Given the description of an element on the screen output the (x, y) to click on. 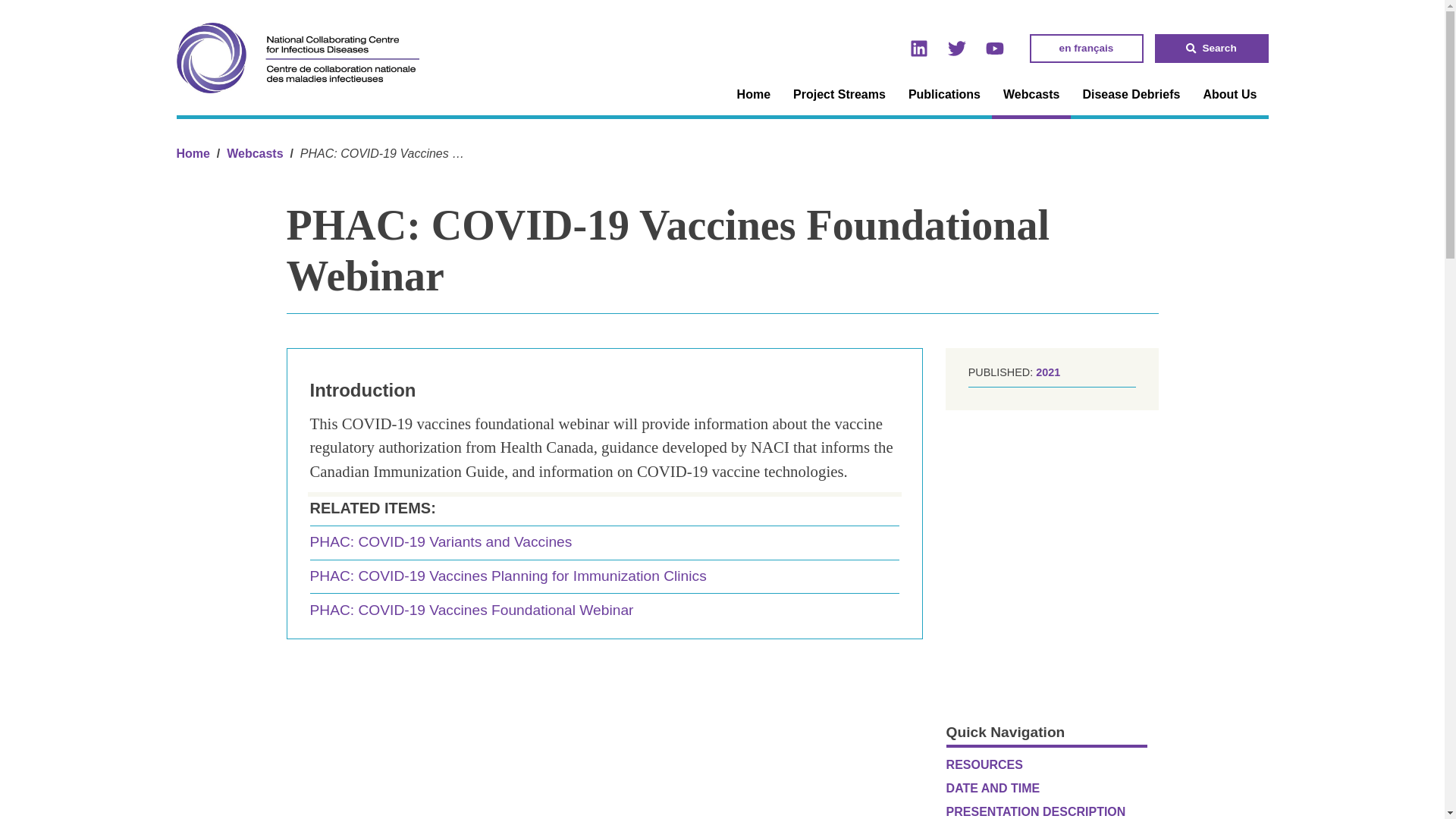
About Us (1229, 94)
Publications (943, 94)
RESOURCES (1046, 765)
PHAC: COVID-19 Vaccines Planning for Immunization Clinics (603, 576)
PHAC: COVID-19 Variants and Vaccines (603, 542)
Webcasts (1030, 96)
2021 (1047, 372)
Go to Webcasts. (254, 153)
PHAC: COVID-19 Vaccines Foundational Webinar (603, 610)
Home (753, 94)
Webcasts (254, 153)
PRESENTATION DESCRIPTION (1046, 809)
Search (1211, 48)
Disease Debriefs (1130, 94)
National Collaborating Centre for Infectious Diseases (192, 153)
